Given the description of an element on the screen output the (x, y) to click on. 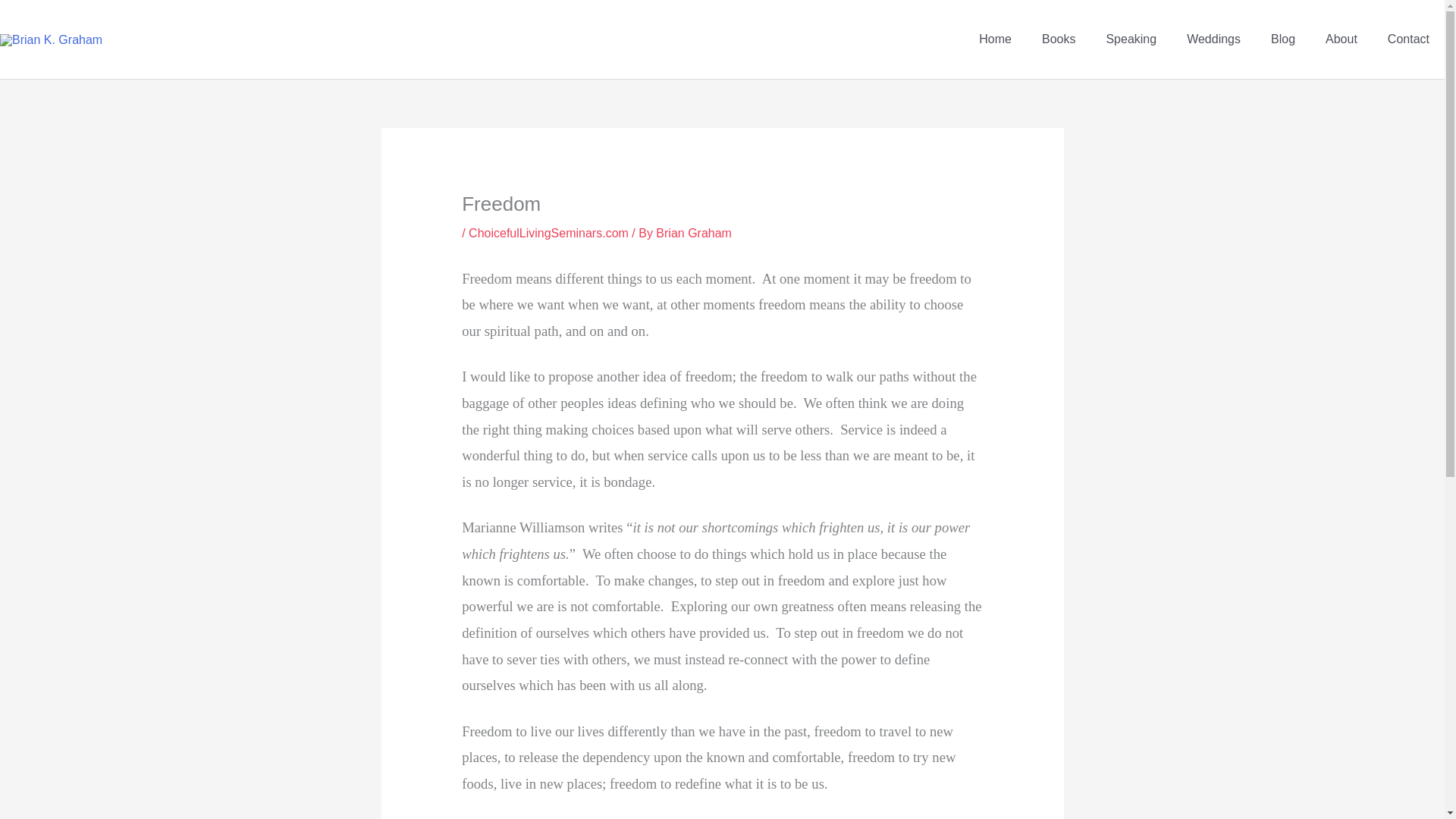
Weddings (1213, 39)
View all posts by Brian Graham (694, 232)
Speaking (1131, 39)
Brian Graham (694, 232)
ChoicefulLivingSeminars.com (548, 232)
